Given the description of an element on the screen output the (x, y) to click on. 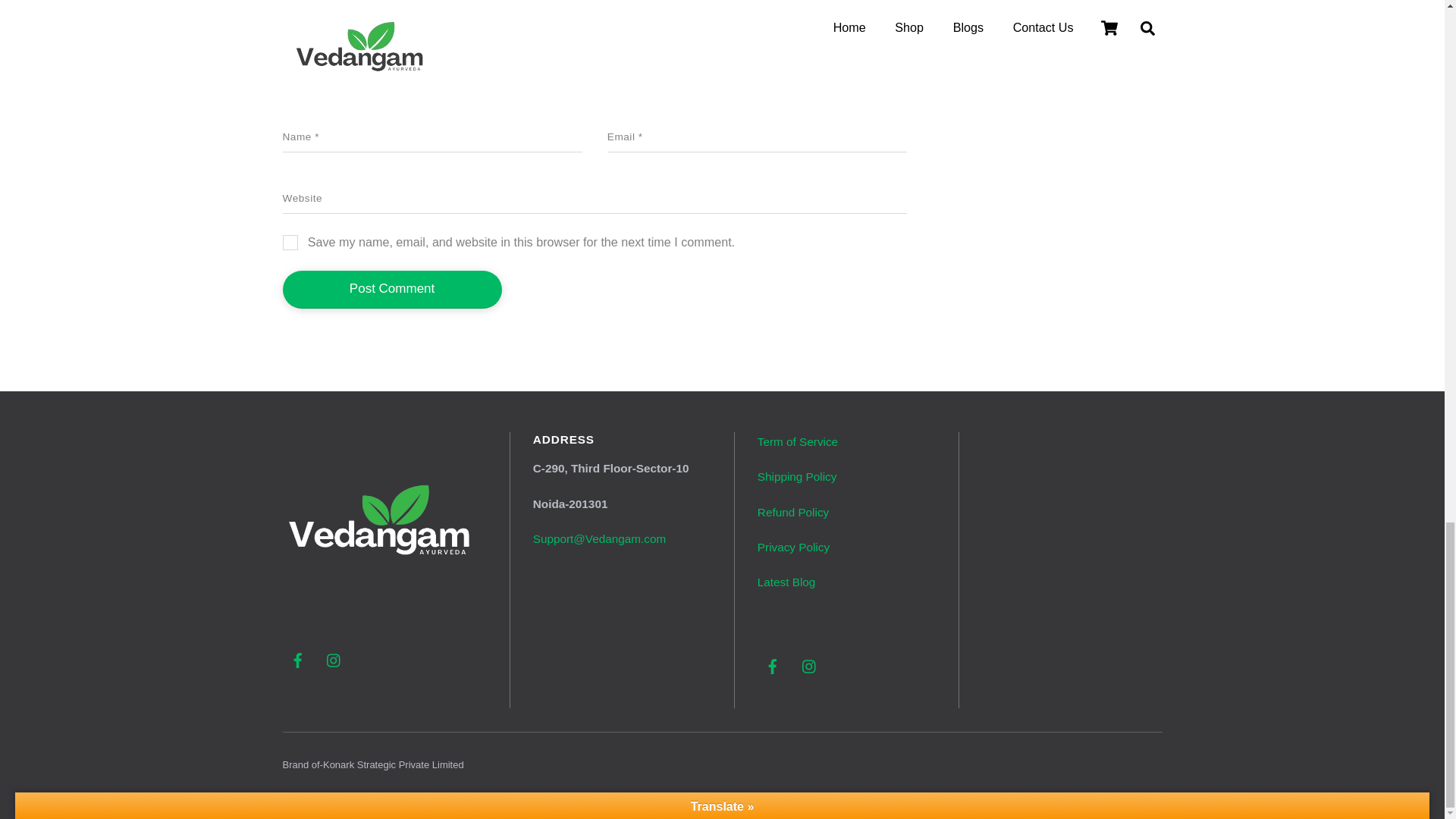
Vedangam Ayurveda (381, 624)
Post Comment (391, 289)
yes (289, 242)
